Given the description of an element on the screen output the (x, y) to click on. 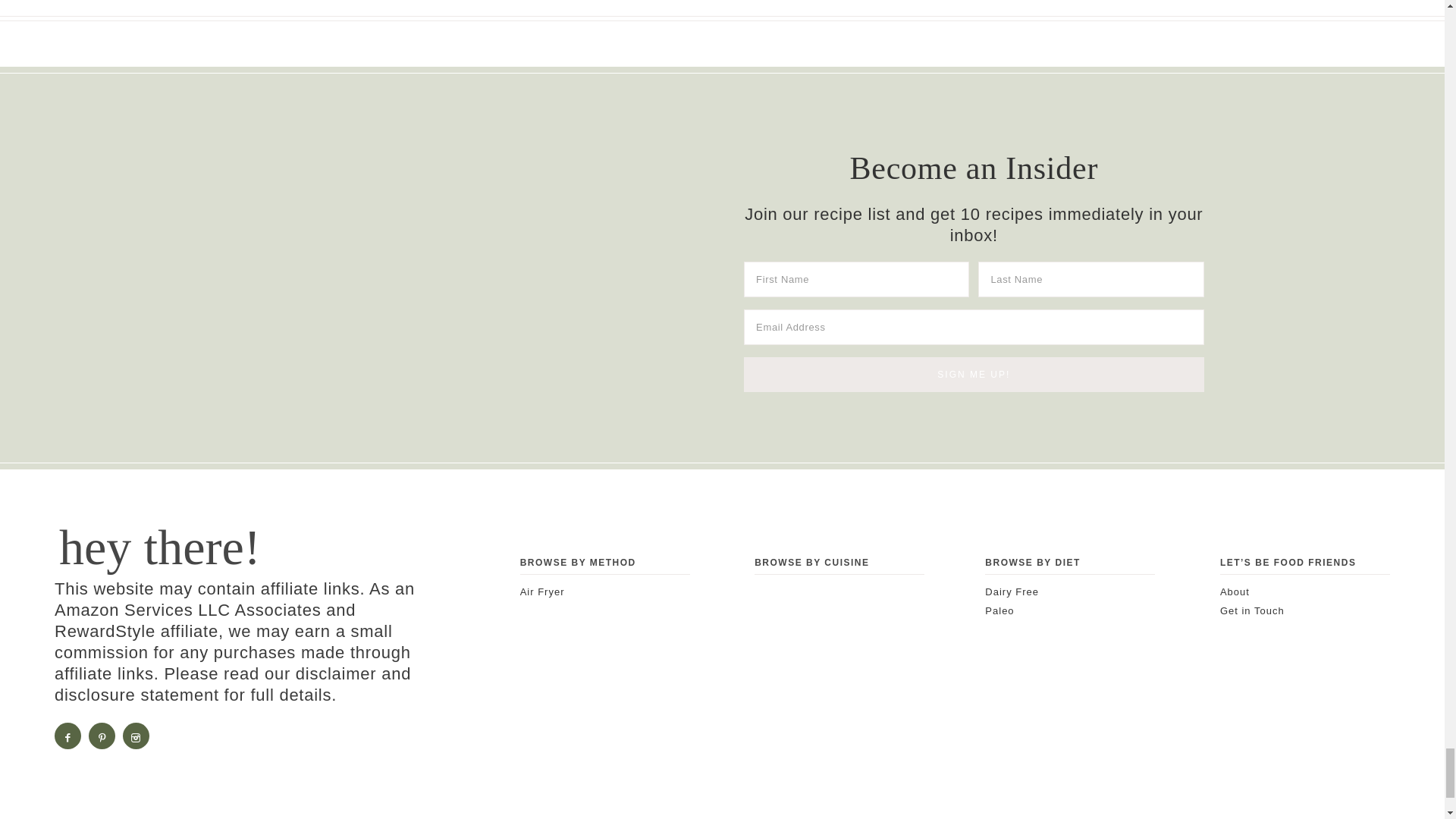
Sign Me Up! (974, 374)
Facebook (68, 734)
Pinterest (102, 734)
Instagram (136, 734)
